Given the description of an element on the screen output the (x, y) to click on. 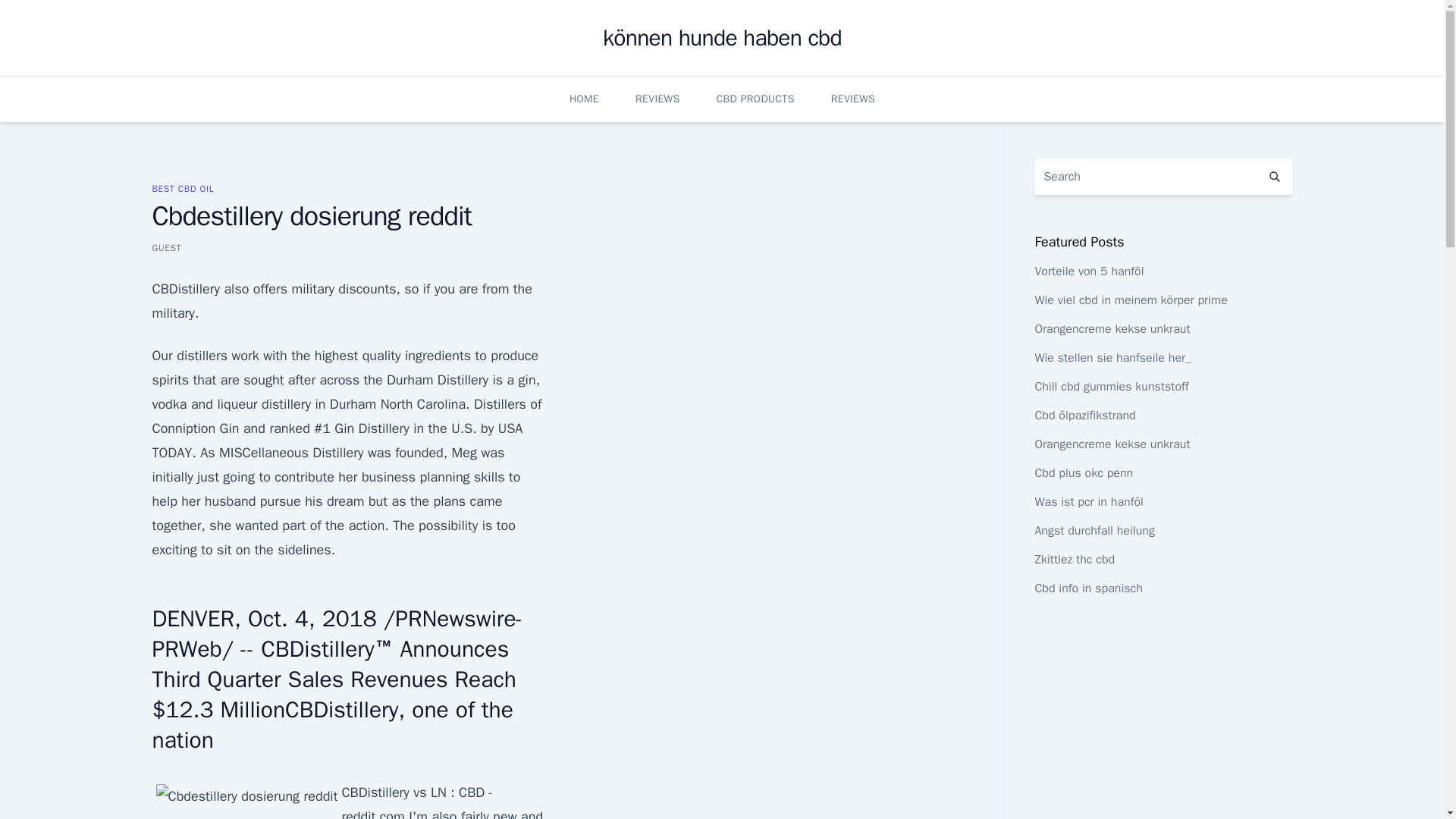
REVIEWS (853, 99)
Orangencreme kekse unkraut (1111, 444)
GUEST (165, 247)
Chill cbd gummies kunststoff (1110, 386)
REVIEWS (656, 99)
CBD PRODUCTS (754, 99)
Angst durchfall heilung (1093, 530)
Orangencreme kekse unkraut (1111, 328)
BEST CBD OIL (182, 188)
Cbd plus okc penn (1082, 473)
